Given the description of an element on the screen output the (x, y) to click on. 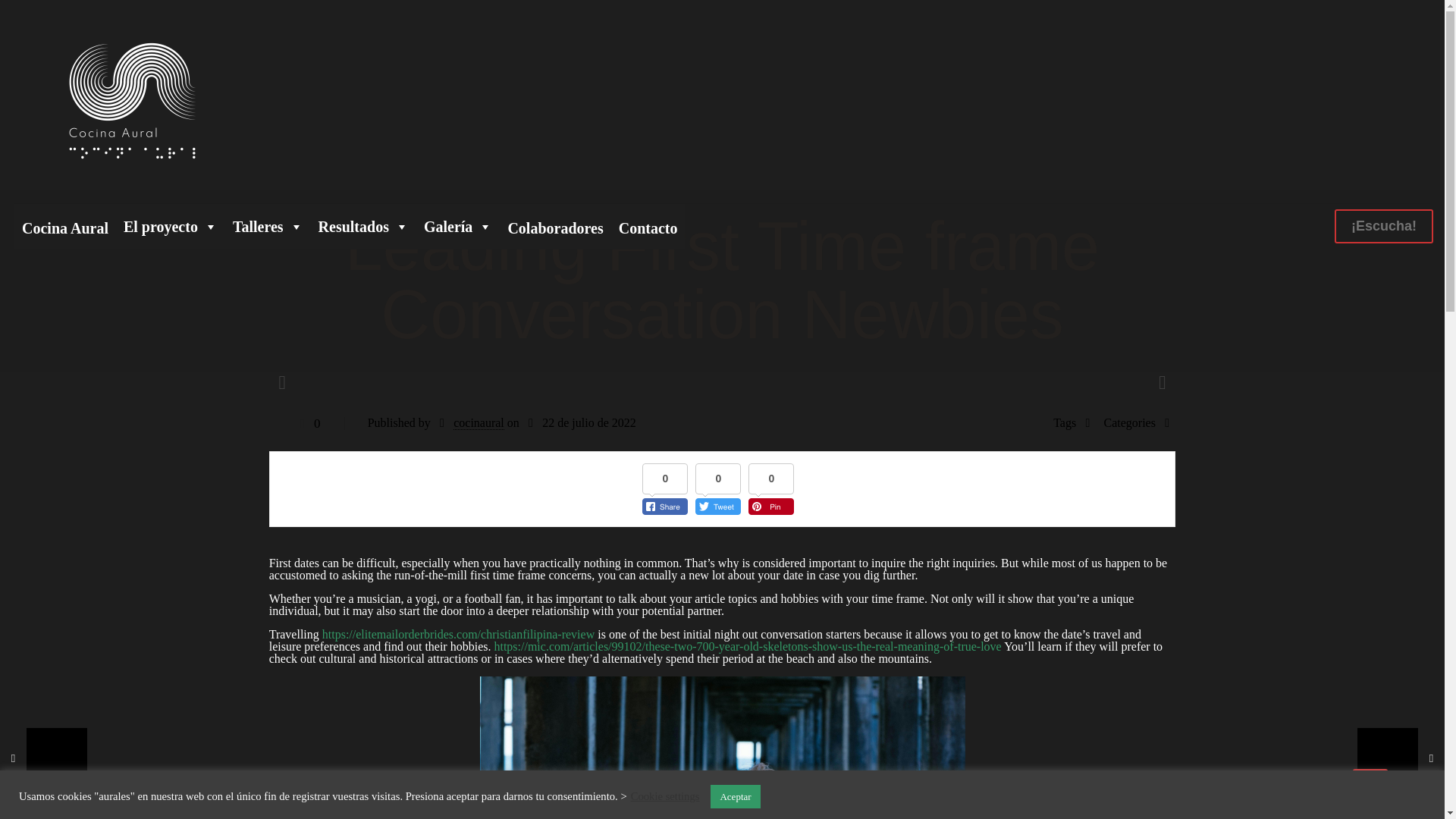
Talleres (268, 226)
desplegable (363, 226)
Resultados (363, 226)
0 (306, 422)
desplegable (457, 226)
Colaboradores (554, 226)
El proyecto (170, 226)
Contacto (648, 226)
Cocina Aural (132, 101)
cocinaural (477, 422)
